Given the description of an element on the screen output the (x, y) to click on. 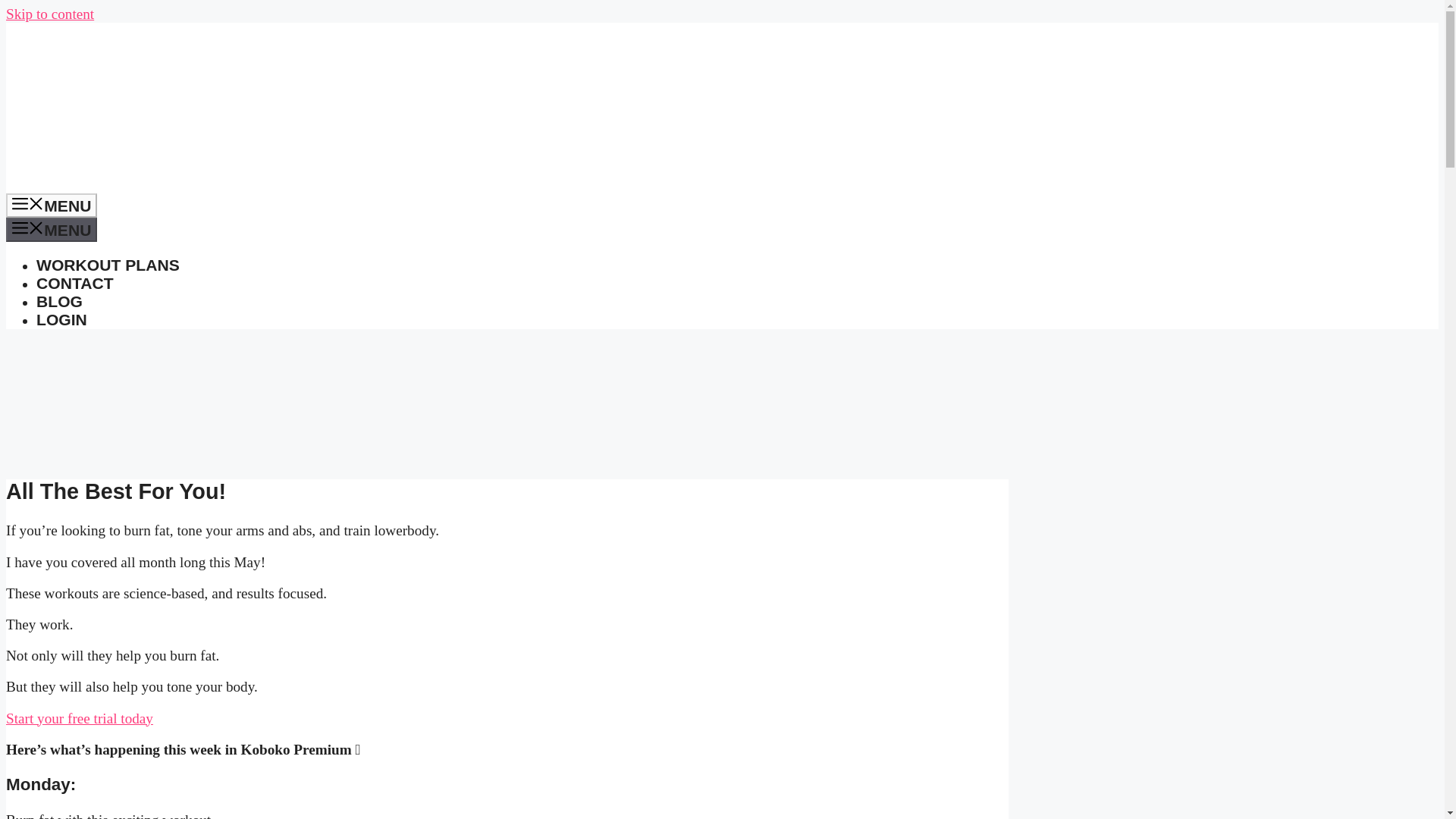
WORKOUT PLANS (107, 264)
Skip to content (49, 13)
MENU (51, 229)
Koboko Fitness (35, 105)
MENU (51, 205)
Skip to content (49, 13)
LOGIN (61, 319)
Koboko Fitness (35, 184)
BLOG (59, 301)
Are you trying to lose weight easily? Take this free quiz (507, 453)
CONTACT (74, 282)
Start your free trial today (78, 717)
